Given the description of an element on the screen output the (x, y) to click on. 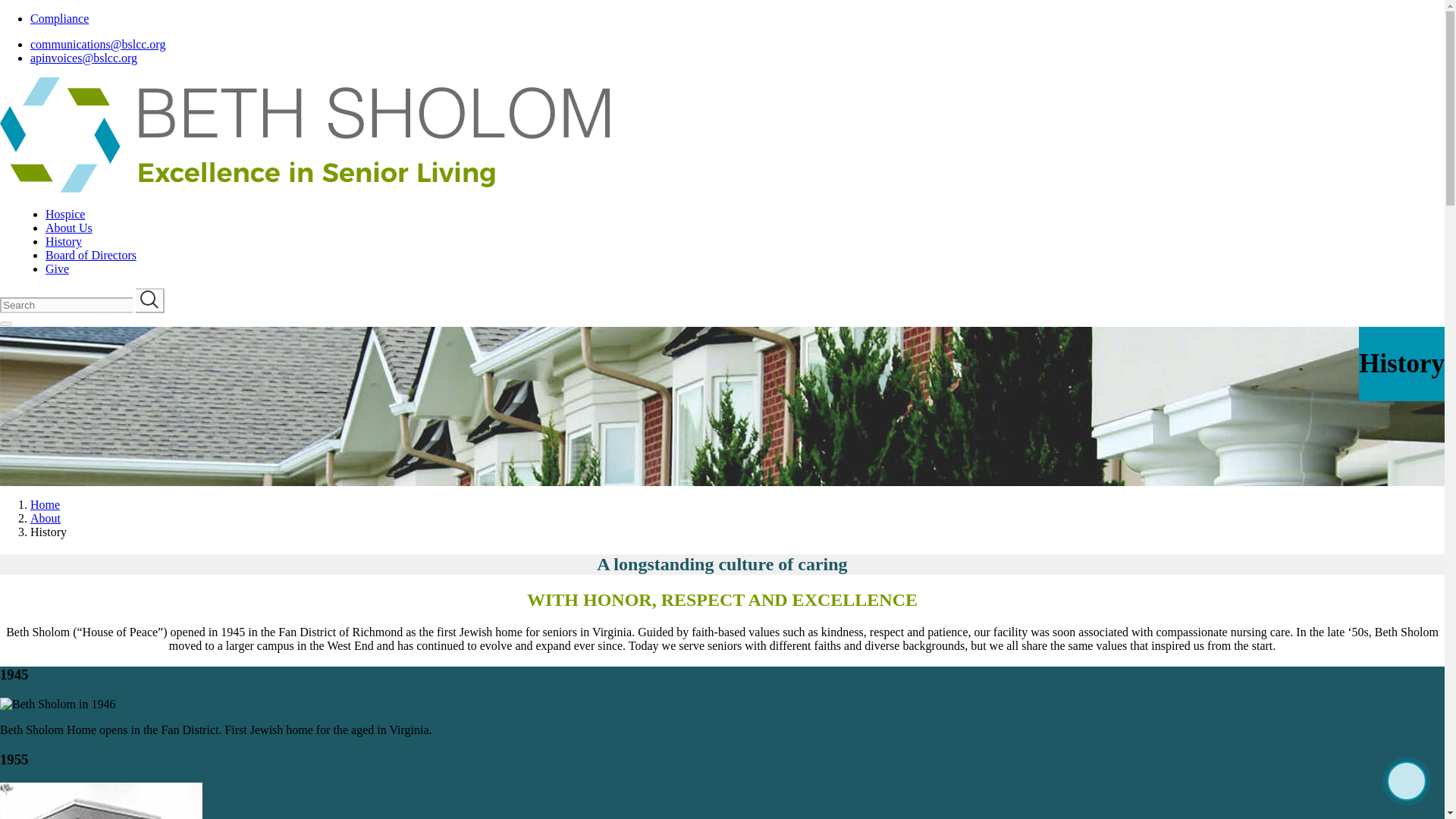
Home (44, 504)
History (63, 241)
Board of Directors (90, 254)
About Us (69, 227)
About (45, 517)
Compliance (59, 18)
Hospice (64, 214)
Give (56, 268)
